Given the description of an element on the screen output the (x, y) to click on. 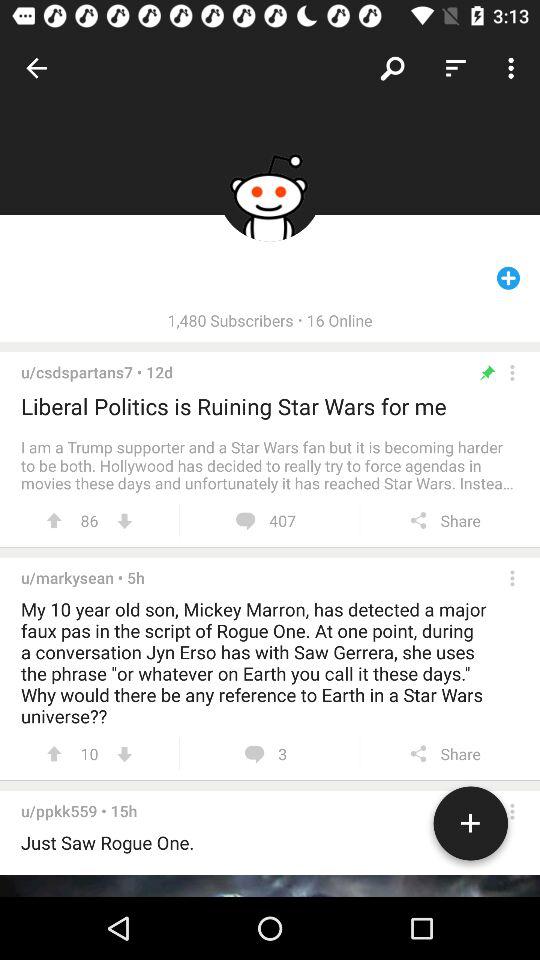
expand the post options (512, 372)
